Given the description of an element on the screen output the (x, y) to click on. 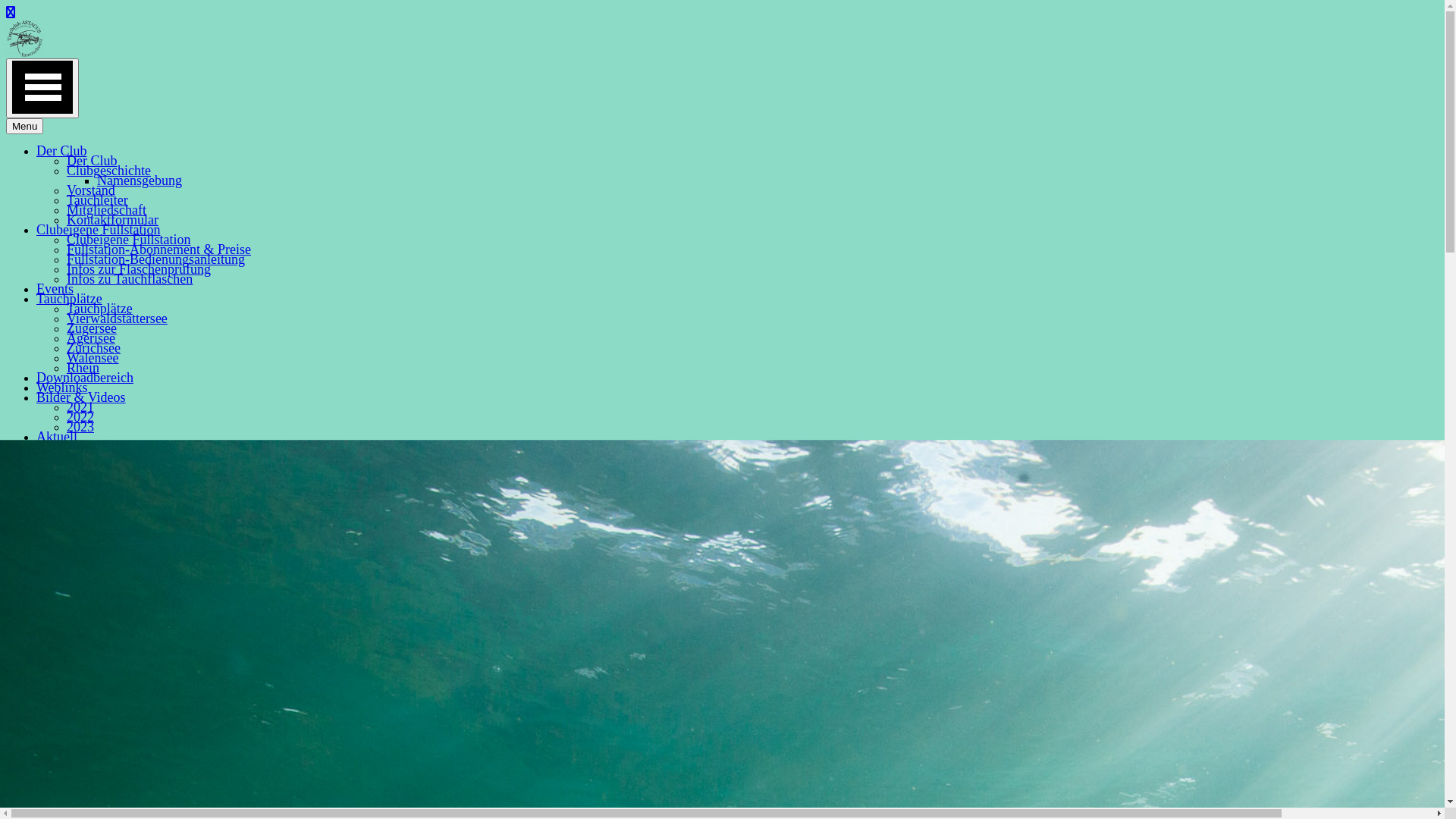
Downloadbereich Element type: text (84, 377)
2022 Element type: text (80, 416)
2023 Element type: text (80, 426)
Namensgebung Element type: text (139, 180)
Der Club Element type: text (61, 150)
Vorstand Element type: text (90, 189)
Menu Element type: text (24, 126)
Der Club Element type: text (91, 160)
Tauchleiter Element type: text (97, 199)
Rhein Element type: text (82, 367)
2021 Element type: text (80, 406)
Events Element type: text (54, 288)
Infos zu Tauchflaschen Element type: text (129, 278)
Zugersee Element type: text (91, 327)
Walensee Element type: text (92, 357)
Kontaktformular Element type: text (112, 219)
Bilder & Videos Element type: text (80, 396)
Mitgliedschaft Element type: text (106, 209)
Aktuell Element type: text (56, 436)
Clubgeschichte Element type: text (108, 170)
Weblinks Element type: text (61, 387)
